Given the description of an element on the screen output the (x, y) to click on. 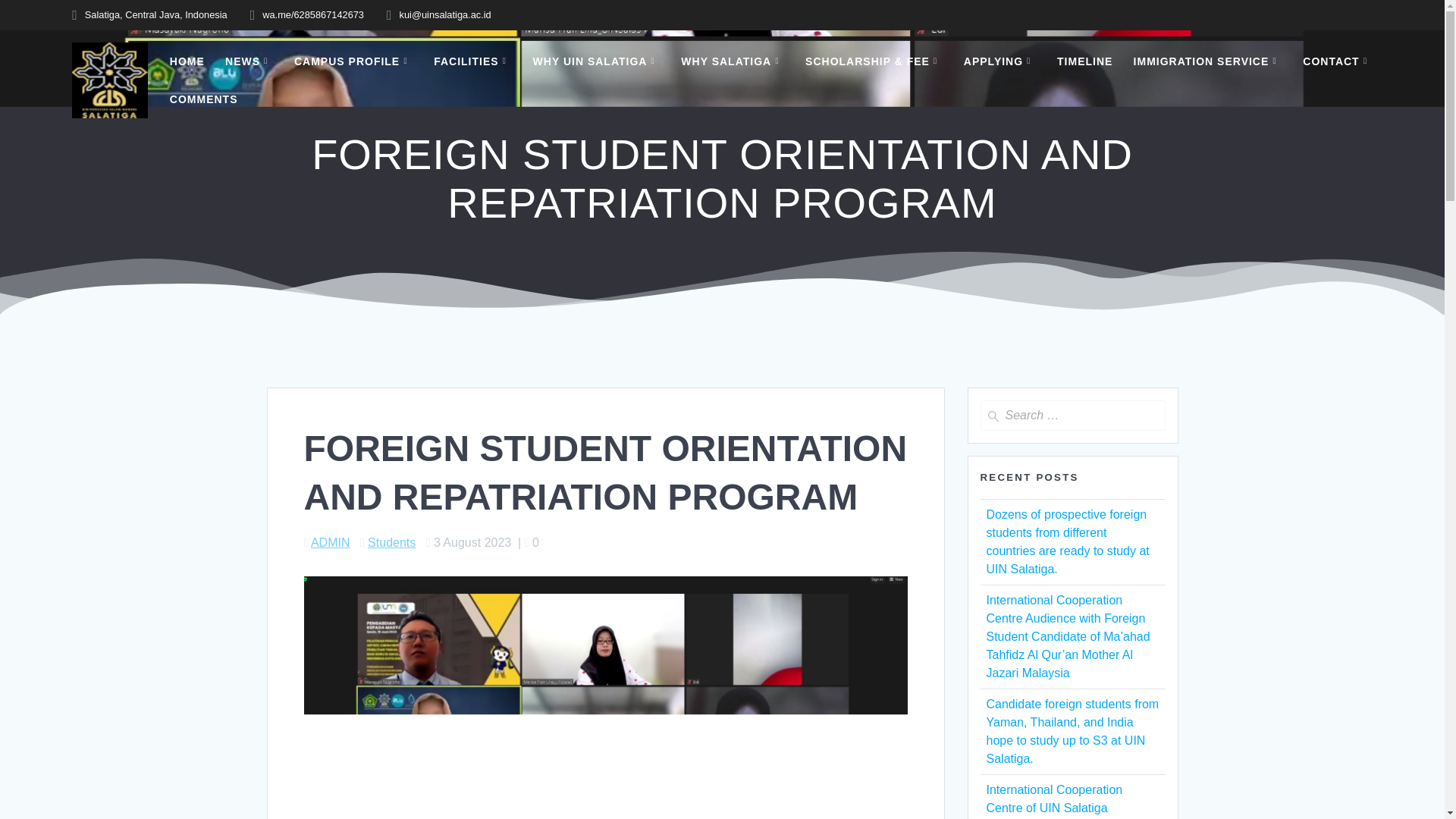
HOME (187, 61)
WHY SALATIGA (732, 61)
APPLYING (999, 61)
WHY UIN SALATIGA (596, 61)
CAMPUS PROFILE (353, 61)
NEWS (249, 61)
Posts by ADMIN (330, 542)
FACILITIES (472, 61)
